Given the description of an element on the screen output the (x, y) to click on. 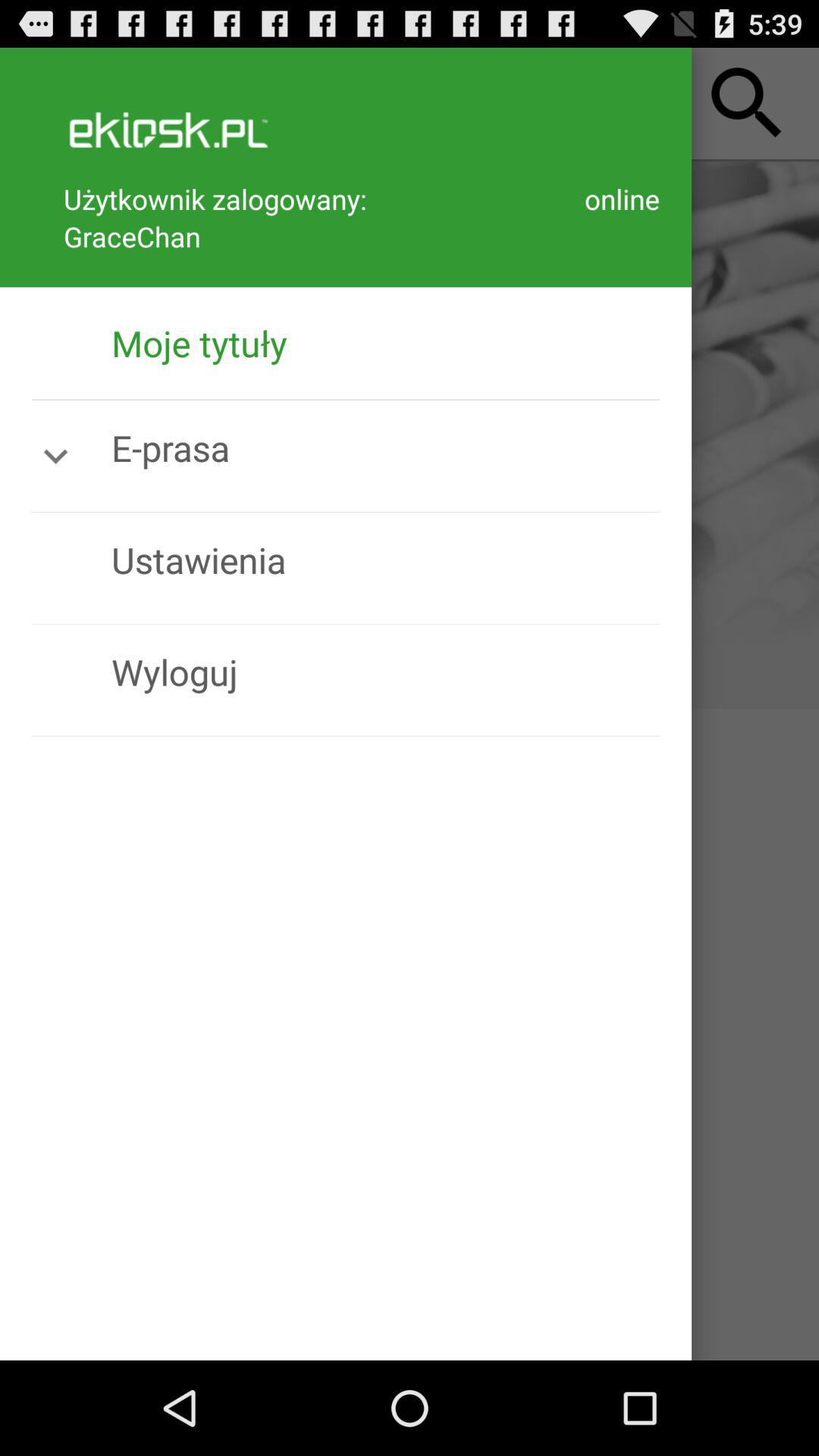
click the button on the top right corner of the web page (747, 103)
